Given the description of an element on the screen output the (x, y) to click on. 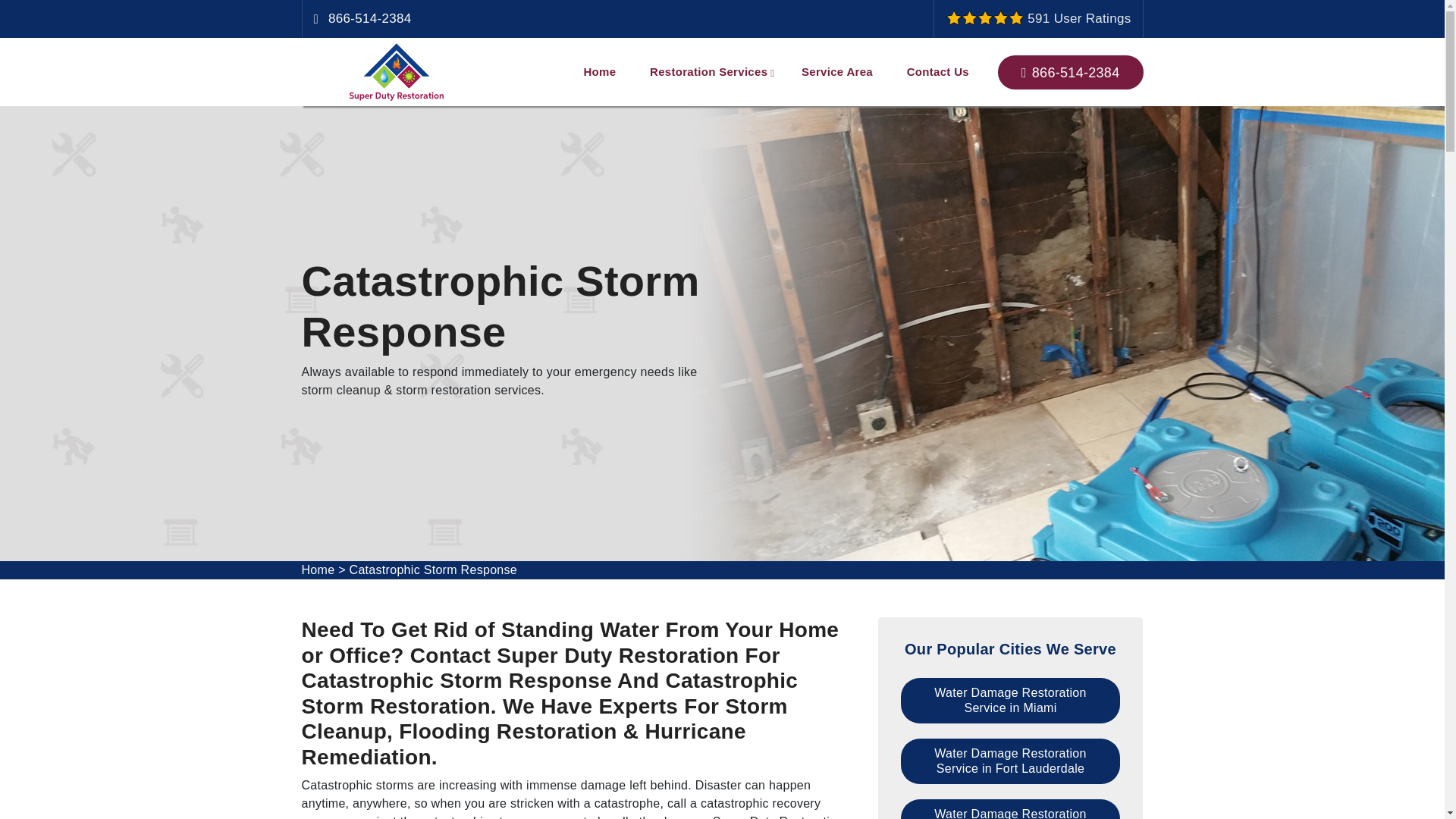
Contact Us (937, 71)
Catastrophic Storm Response (433, 569)
Restoration Services (708, 71)
Water Damage Restoration Service in New York (1011, 809)
866-514-2384 (1069, 71)
Water Damage Restoration Service in Fort Lauderdale (1011, 760)
Home (317, 569)
866-514-2384 (369, 18)
Water Damage Restoration Service in Miami (1011, 700)
Service Area (837, 71)
Super Duty Restoration (396, 71)
Home (598, 71)
